Given the description of an element on the screen output the (x, y) to click on. 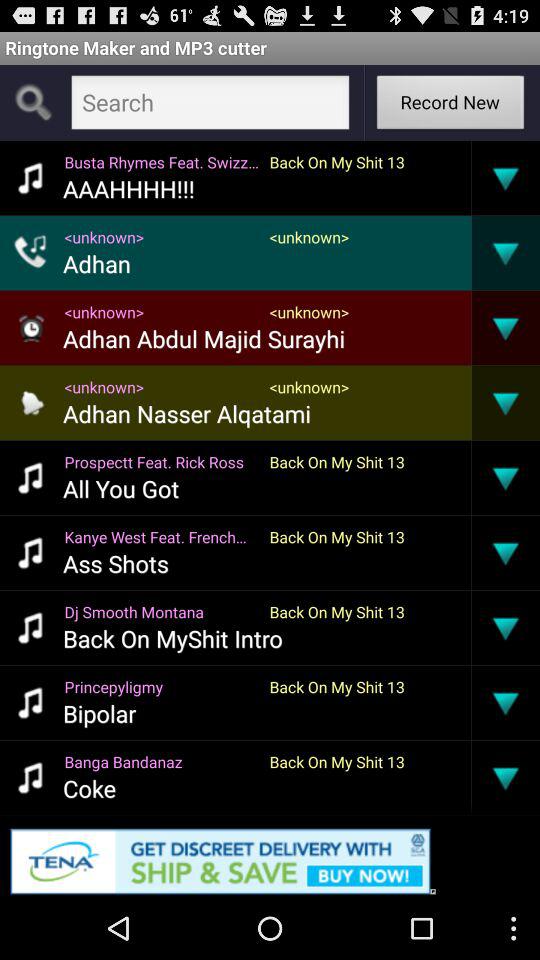
click item next to back on my item (471, 777)
